Given the description of an element on the screen output the (x, y) to click on. 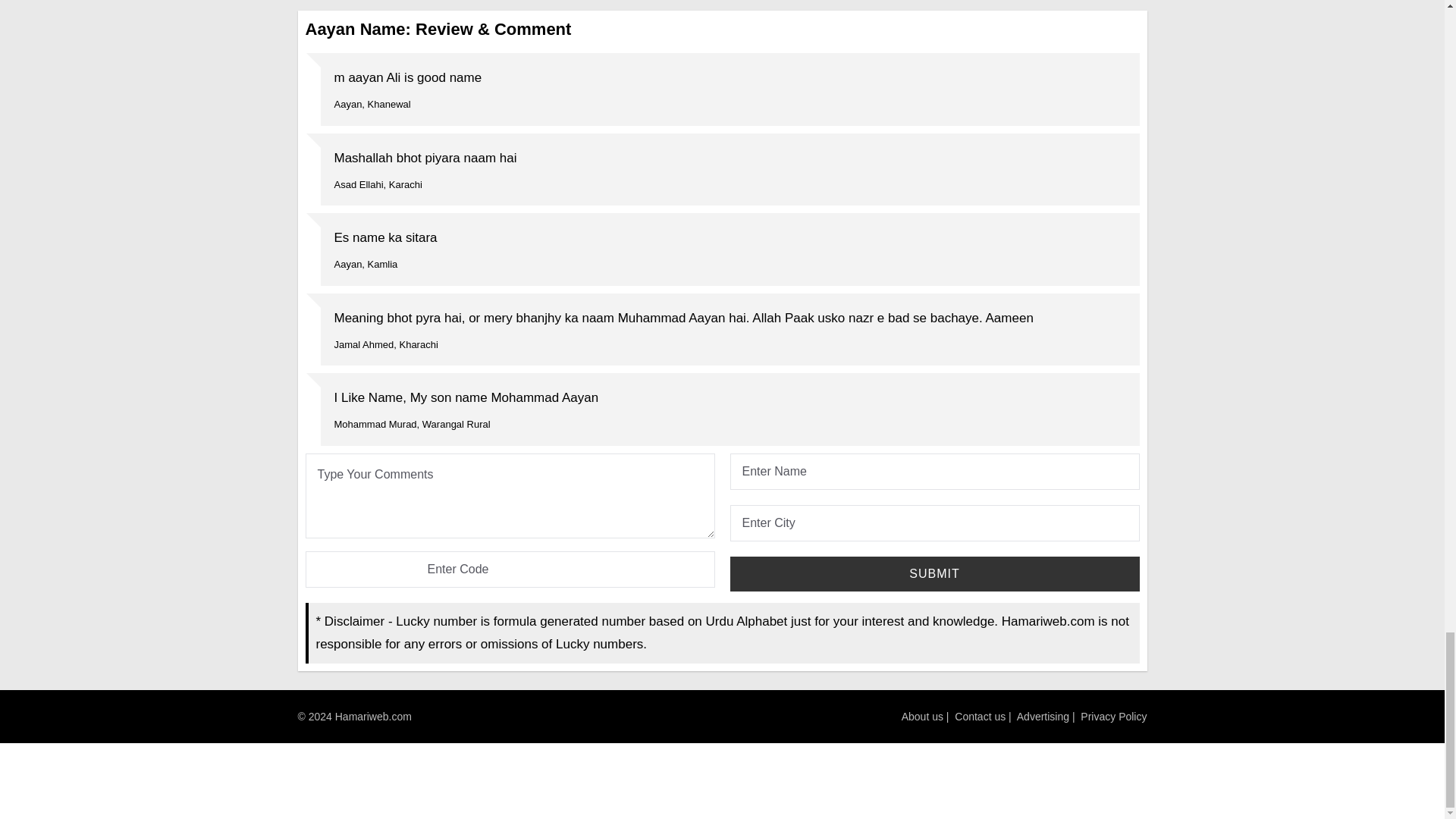
Submit (933, 573)
